Given the description of an element on the screen output the (x, y) to click on. 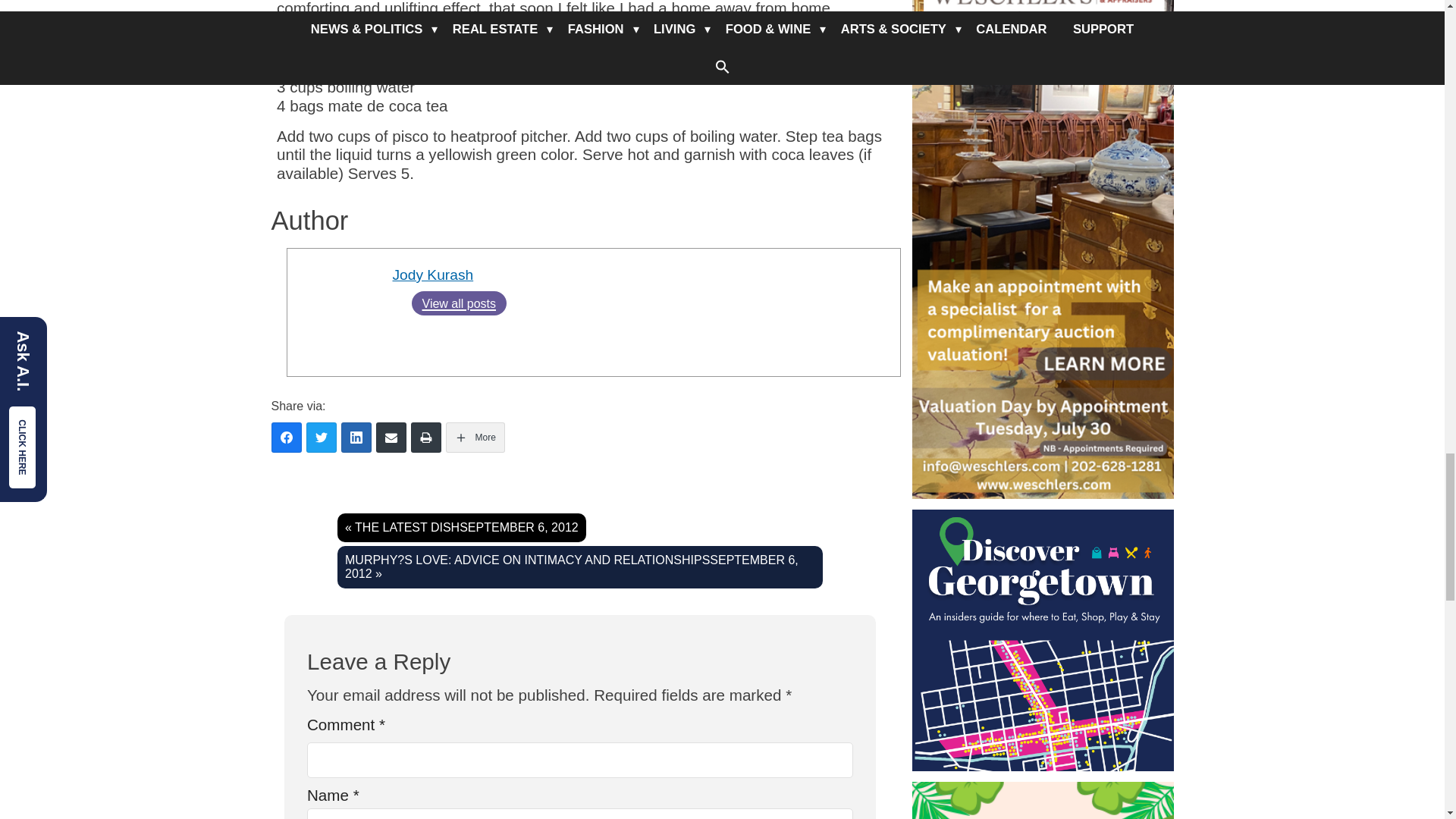
Weschler's Skyscraper Ad July (1042, 249)
The Georgetowner Interactive Map (1042, 640)
Georgetown Village Summer 2024 (1042, 800)
View all posts (458, 303)
Jody Kurash (432, 274)
